Given the description of an element on the screen output the (x, y) to click on. 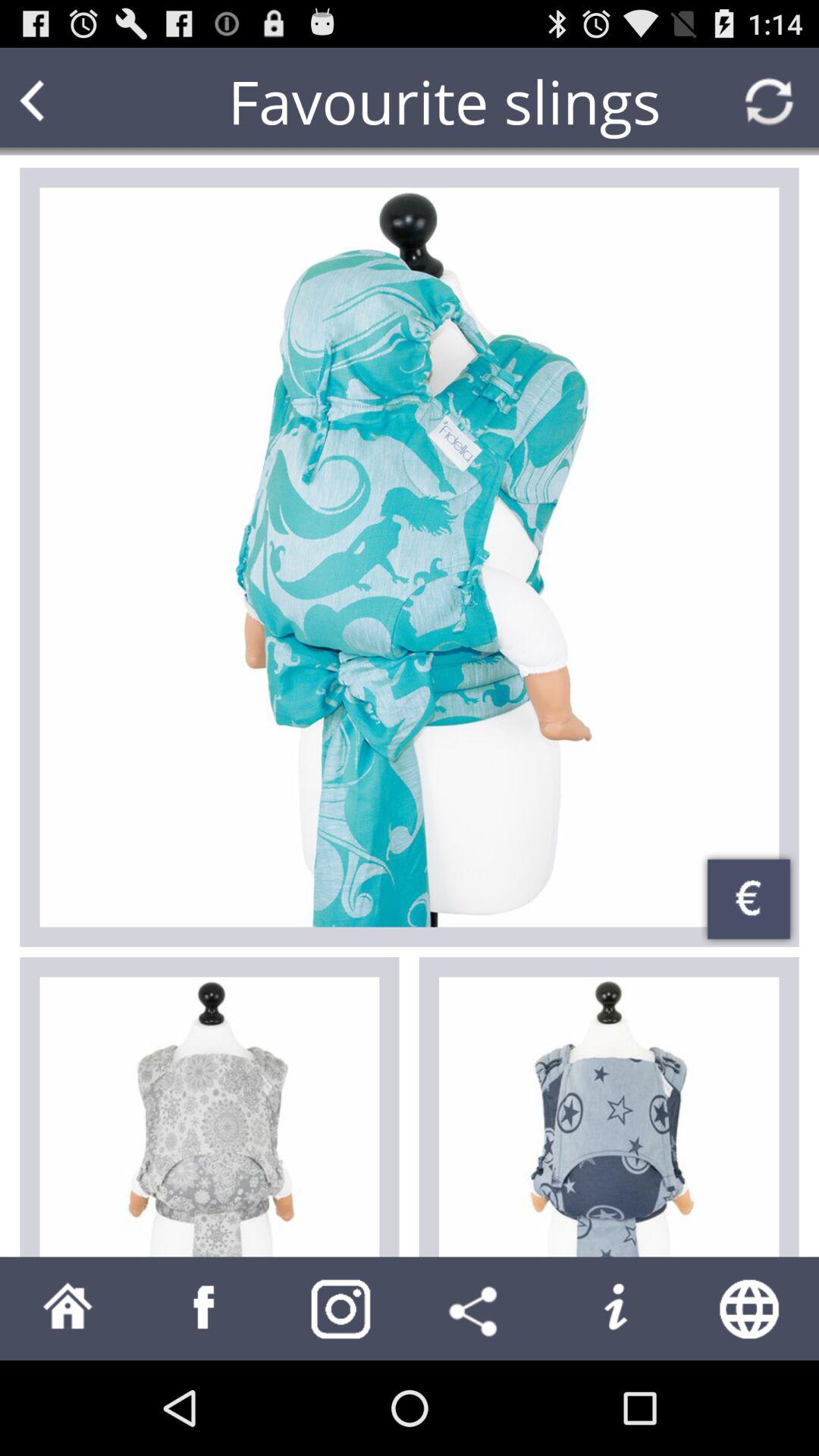
select other product (609, 1116)
